Given the description of an element on the screen output the (x, y) to click on. 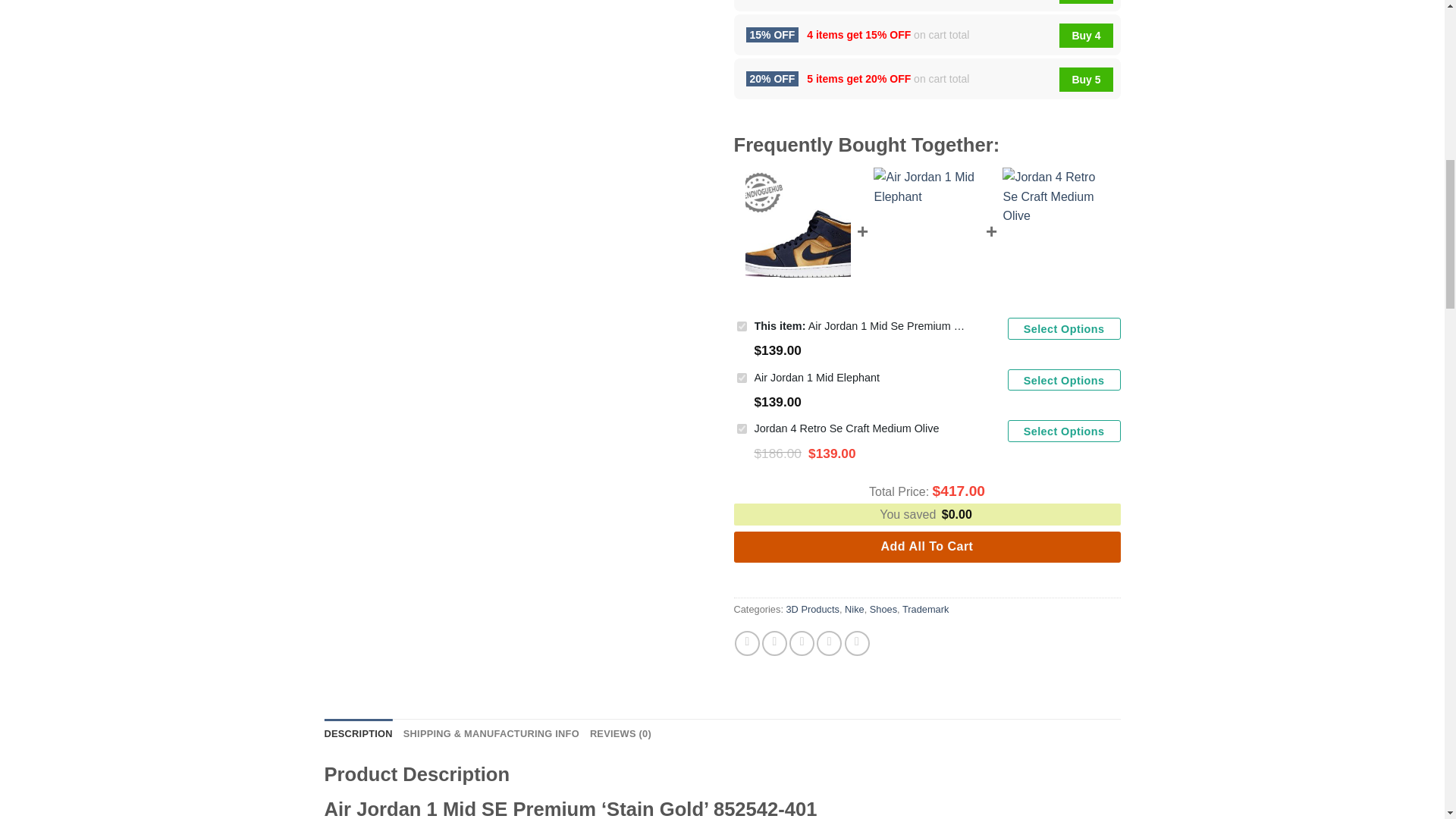
6949 (741, 429)
7130 (741, 378)
15973 (741, 326)
